Given the description of an element on the screen output the (x, y) to click on. 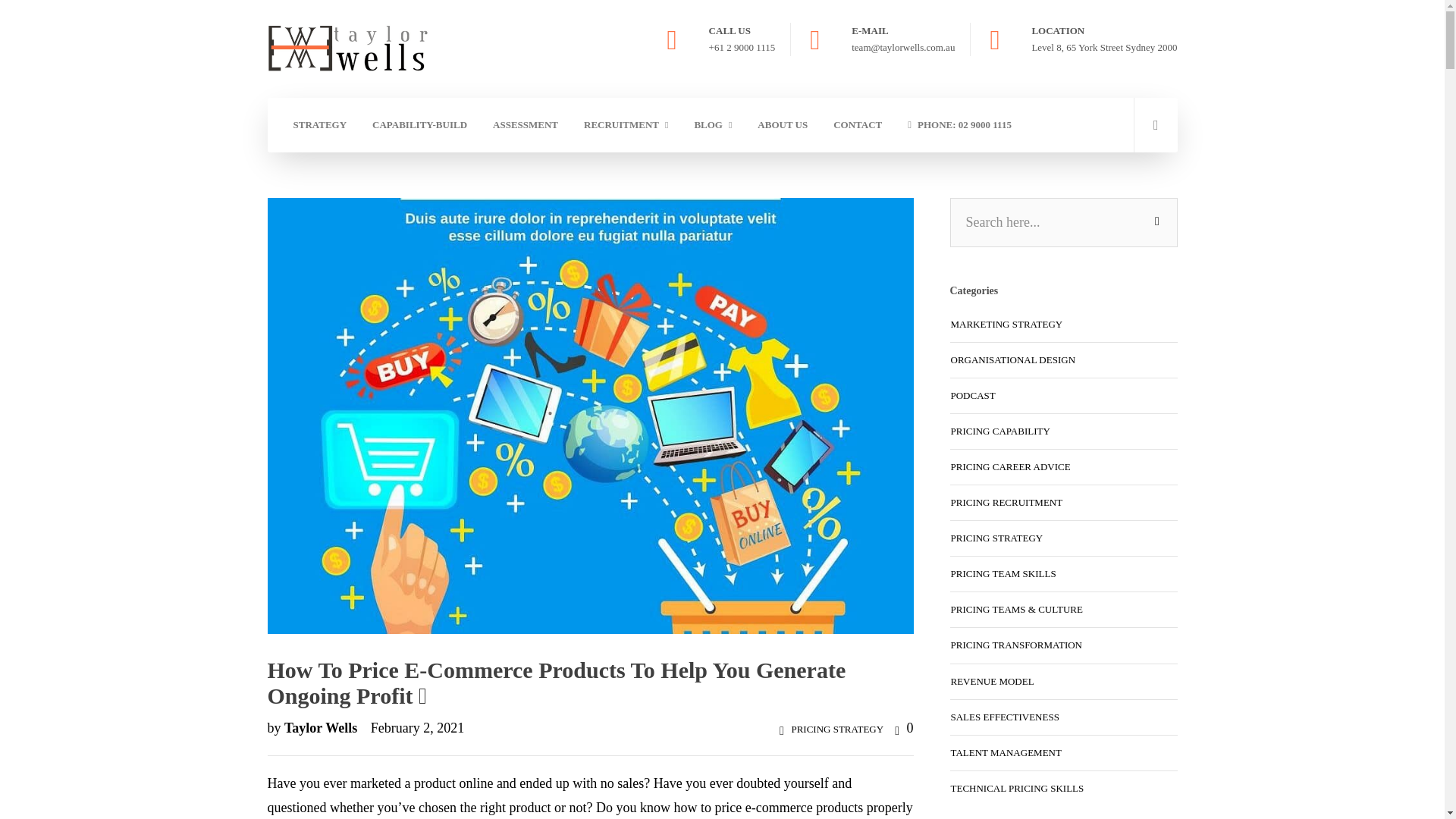
PHONE: 02 9000 1115 (959, 124)
ASSESSMENT (525, 124)
Taylor Wells (322, 727)
RECRUITMENT (625, 124)
ABOUT US (782, 124)
STRATEGY (319, 124)
CAPABILITY-BUILD (419, 124)
February 2, 2021 (412, 727)
PRICING STRATEGY (836, 728)
Search text (1062, 222)
